Given the description of an element on the screen output the (x, y) to click on. 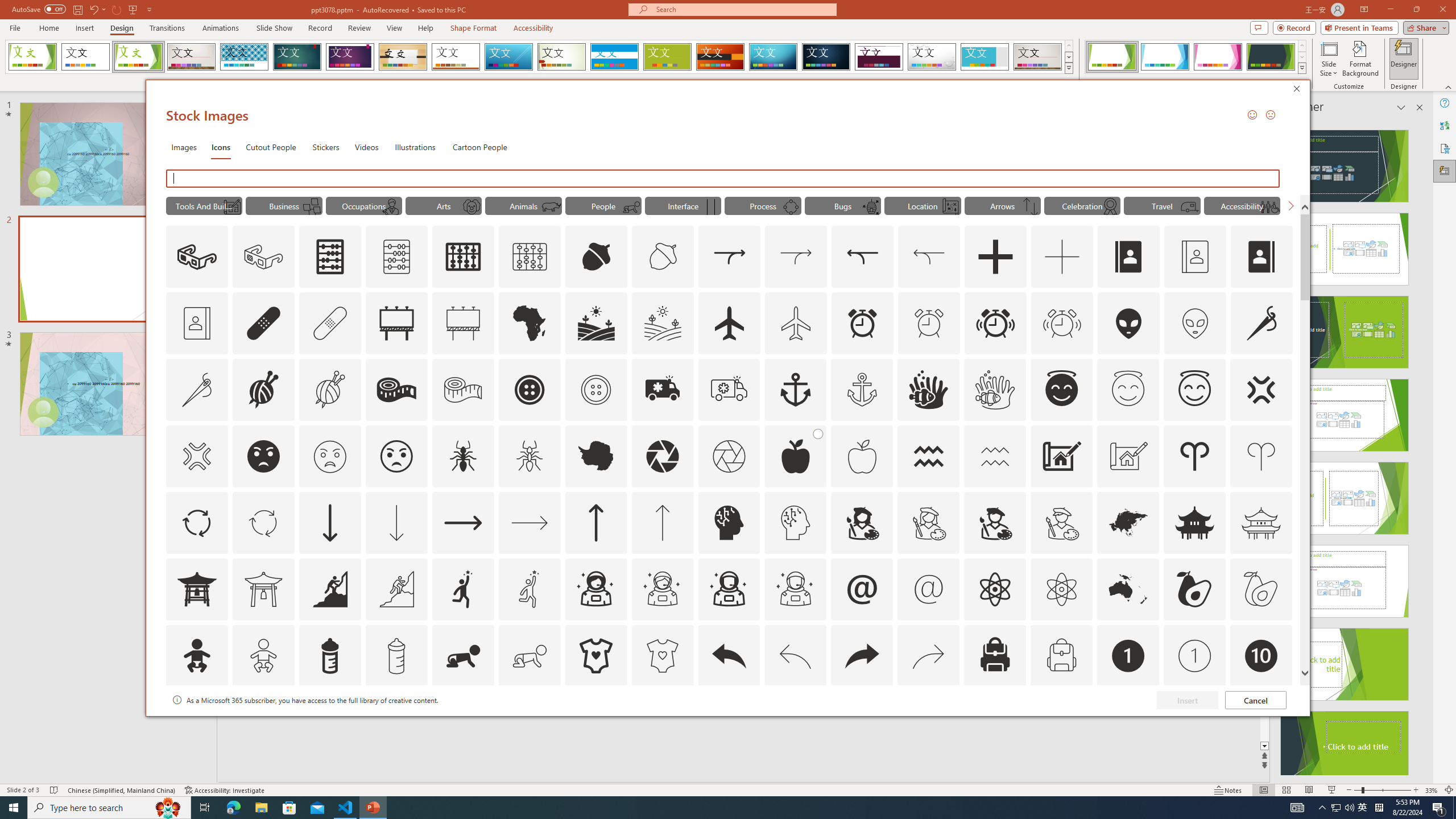
AutomationID: Icons_Acorn_M (663, 256)
AutomationID: Icons_AlarmClock_M (928, 323)
Cutout People (271, 146)
AutomationID: Icons_Aspiration_M (395, 588)
AutomationID: Icons_Badge5_M (729, 721)
AutomationID: Icons_3dGlasses_M (263, 256)
AutomationID: Icons_Pause_M (710, 206)
"Process" Icons. (762, 205)
AutomationID: Icons_UniversalAccess_M (1269, 206)
AutomationID: Icons_Aquarius (928, 455)
